Given the description of an element on the screen output the (x, y) to click on. 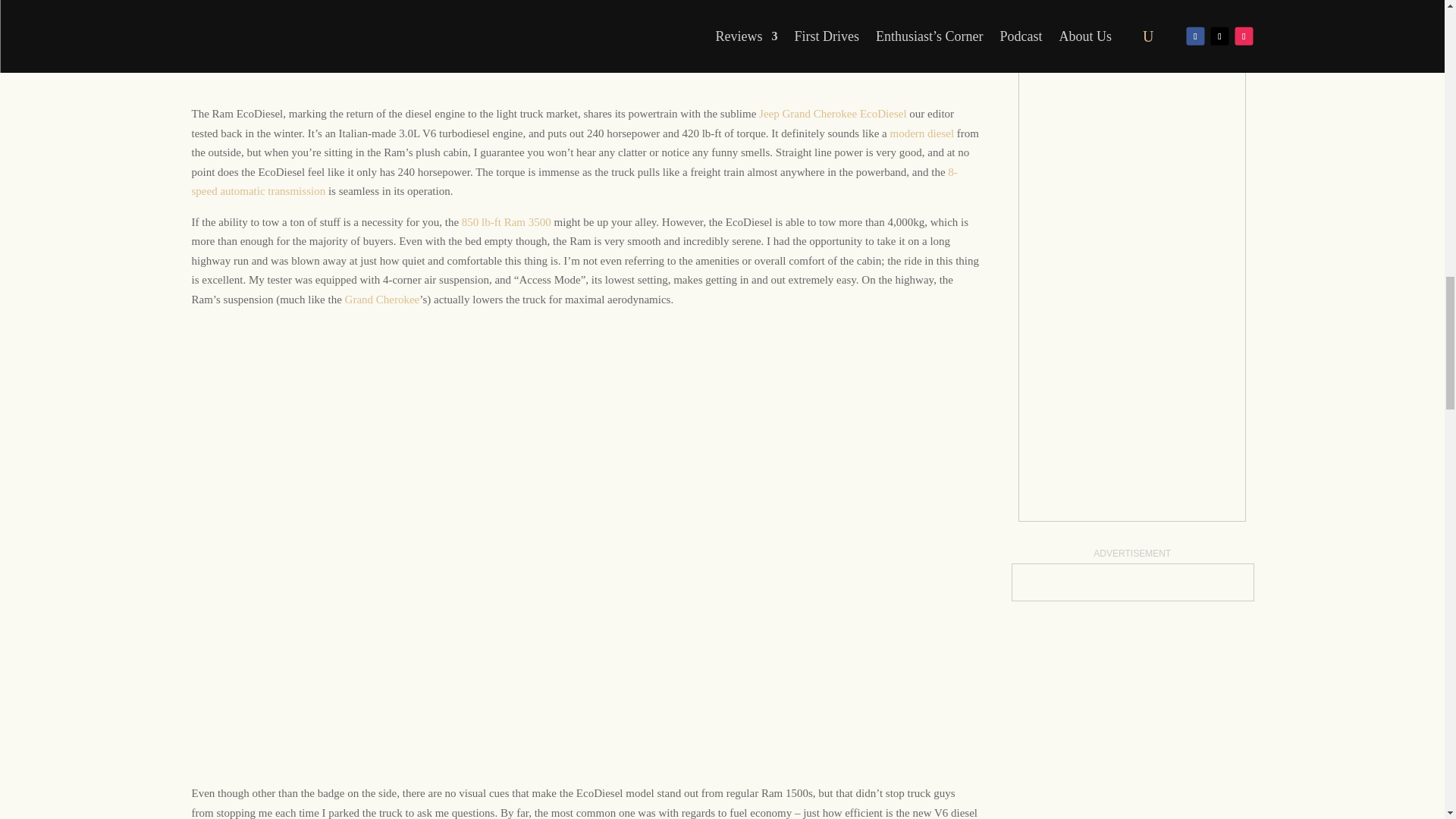
2014 Jeep Grand Cherokee Summit (382, 299)
2014 Jeep Grand Cherokee EcoDiesel (832, 113)
Second Look: 2014 Volkswagen Touareg TDI (573, 182)
First Drive: 2015 Volkswagen Full Line (922, 133)
